Given the description of an element on the screen output the (x, y) to click on. 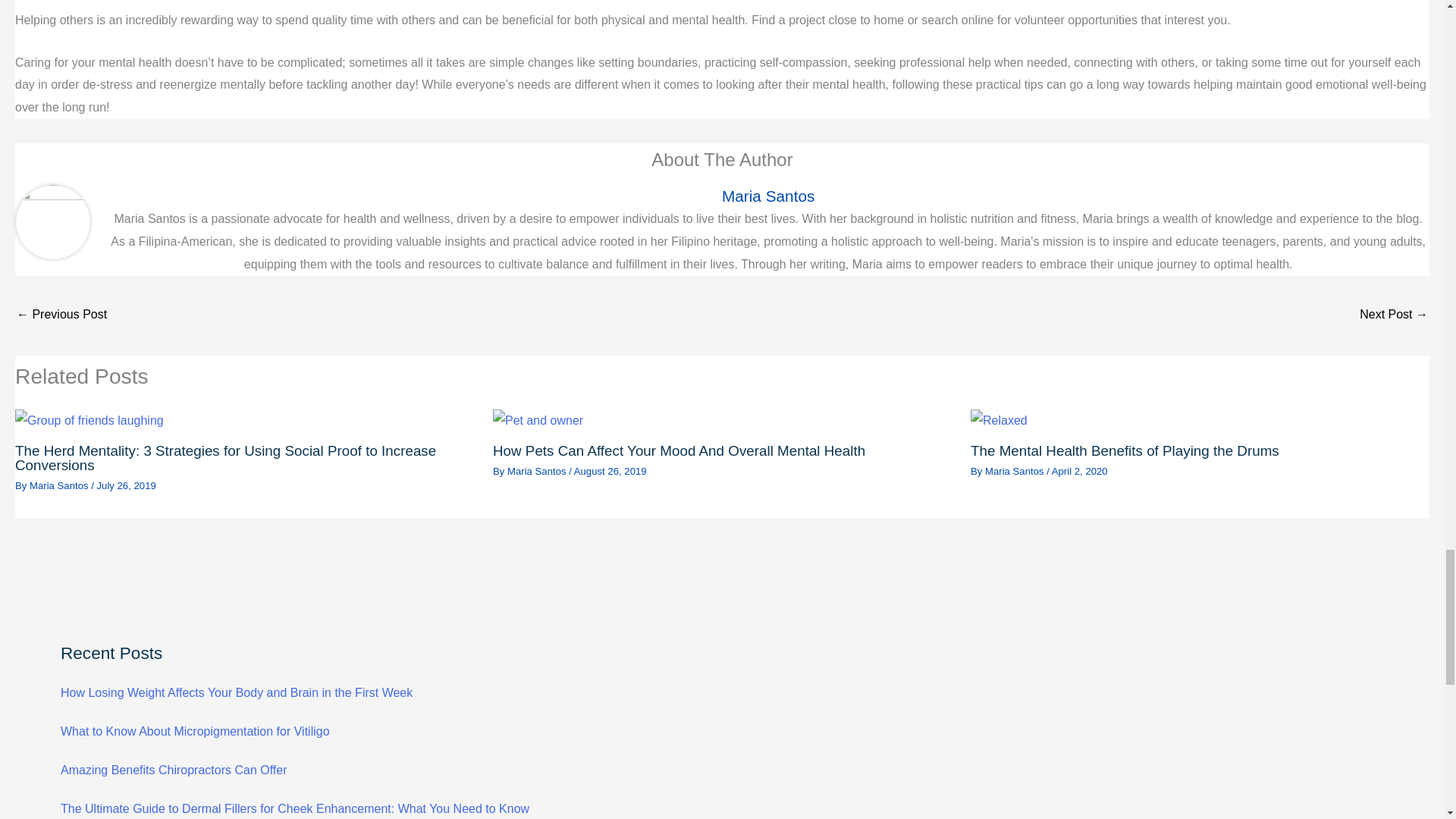
View all posts by Maria Santos (537, 471)
Engaging Your Kids: What Aspects to Prioritize (1393, 316)
How Pets Can Affect Your Mood And Overall Mental Health (678, 450)
How Regular Pipe Inspection Affects Health at Home (61, 316)
Maria Santos (59, 485)
View all posts by Maria Santos (1015, 471)
Maria Santos (767, 196)
View all posts by Maria Santos (59, 485)
Maria Santos (537, 471)
